Given the description of an element on the screen output the (x, y) to click on. 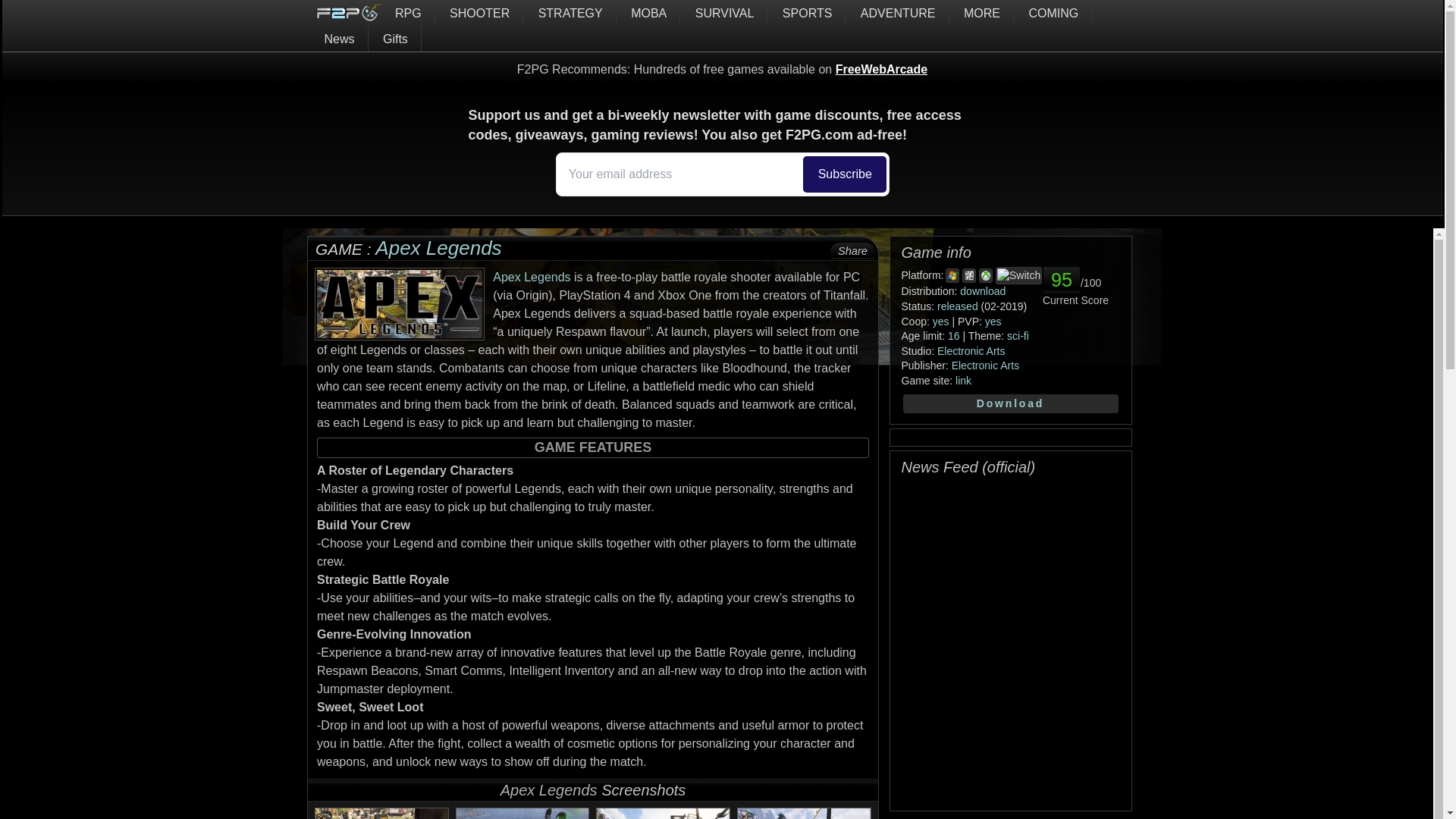
F2P Adventure games (898, 12)
Other Free Games (982, 12)
Multiplayer Survival (759, 37)
Free Strategy Games (571, 12)
Free MMO and multiplayer RPG games (459, 37)
MOBA (649, 12)
RPG (409, 12)
SPORTS (808, 12)
FREE RPGs (409, 12)
Free MOBA games  (649, 12)
